Given the description of an element on the screen output the (x, y) to click on. 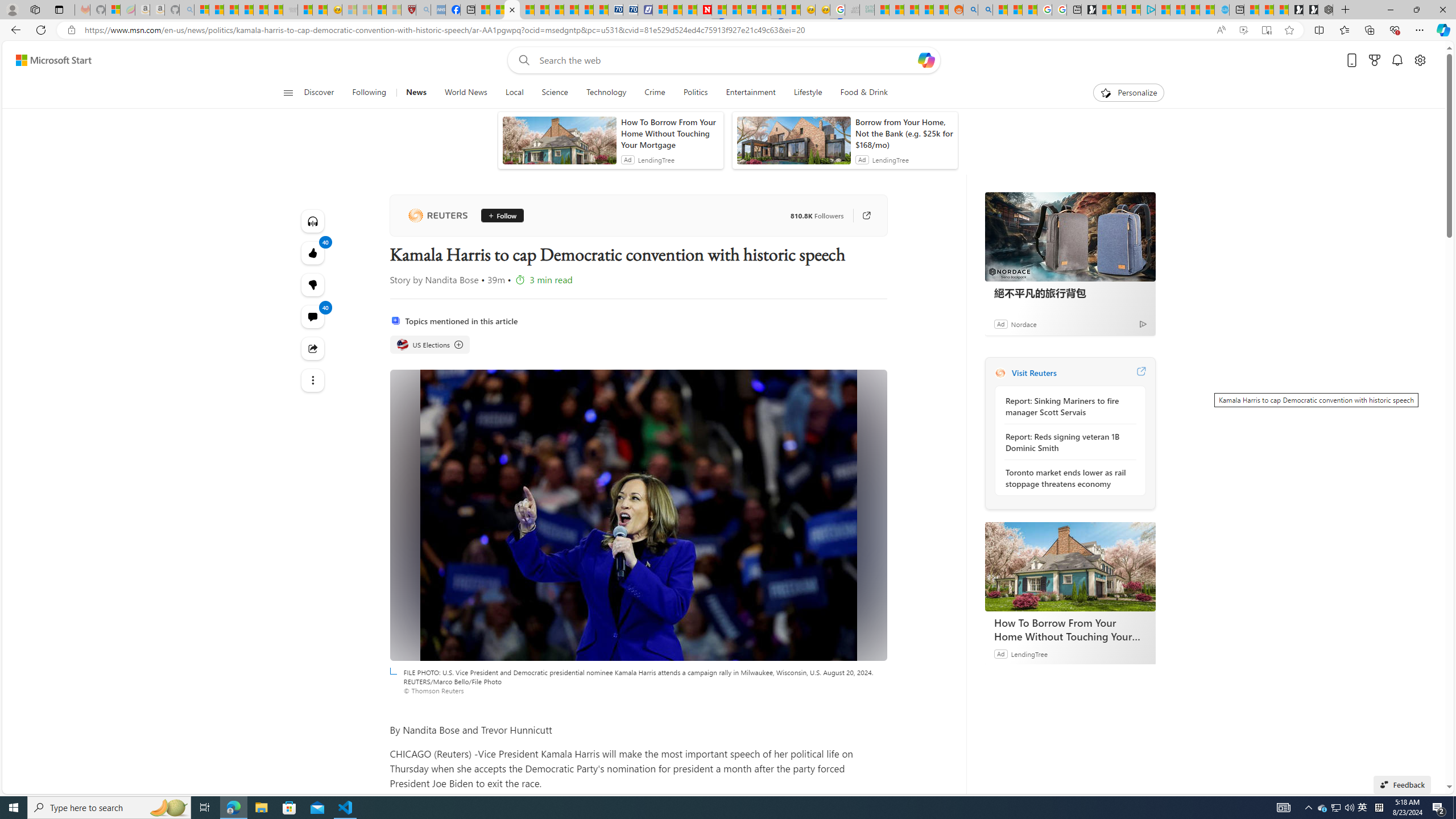
US Elections US Elections US Elections (430, 344)
Science (554, 92)
Lifestyle (807, 92)
Technology (606, 92)
New Report Confirms 2023 Was Record Hot | Watch (260, 9)
